Given the description of an element on the screen output the (x, y) to click on. 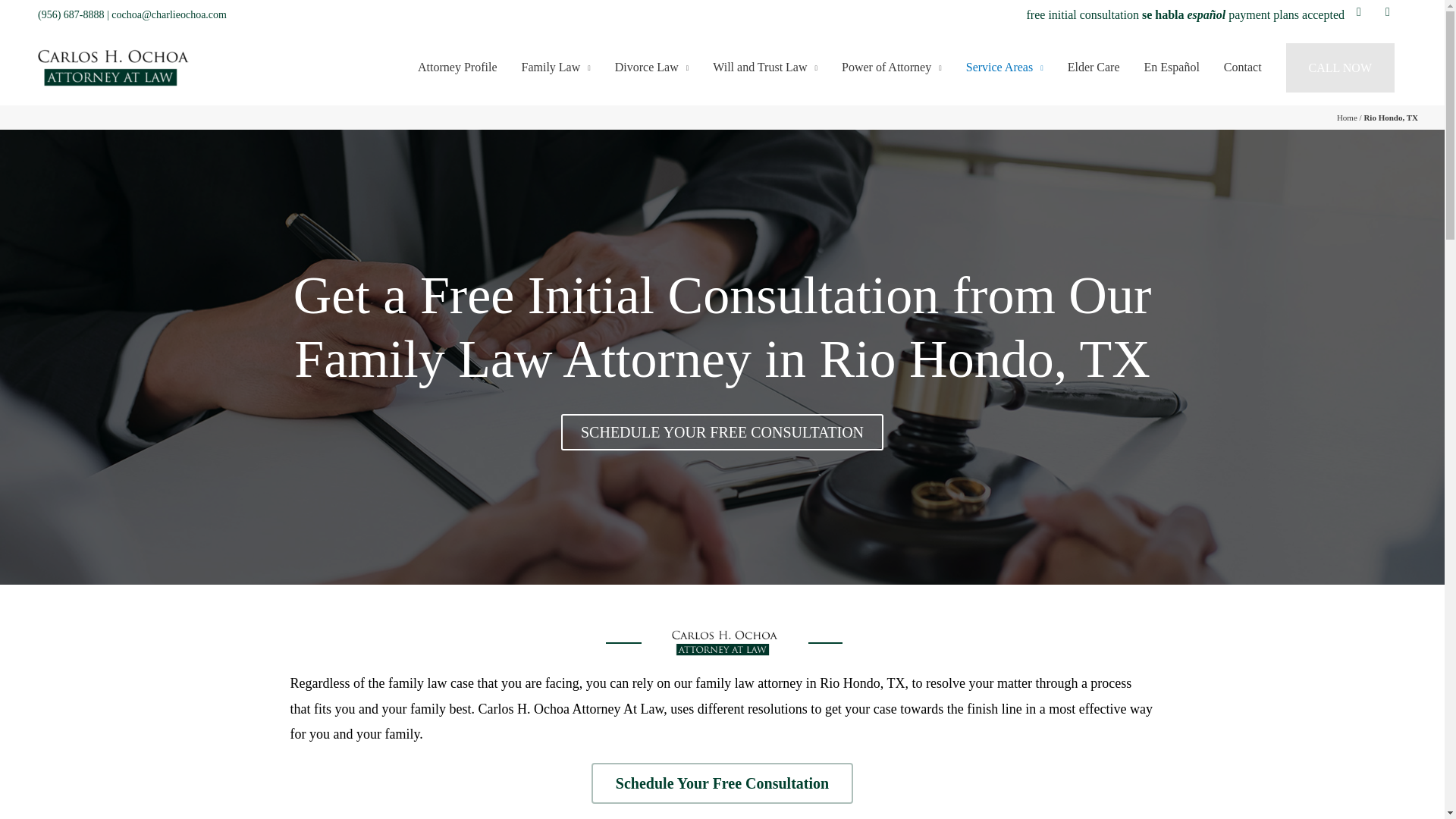
Attorney Profile (457, 68)
Divorce Law (651, 68)
Will and Trust Law (764, 68)
Power of Attorney (891, 68)
Family Law (555, 68)
Service Areas (1004, 68)
Default Label (1387, 10)
Twitter (1358, 10)
